Given the description of an element on the screen output the (x, y) to click on. 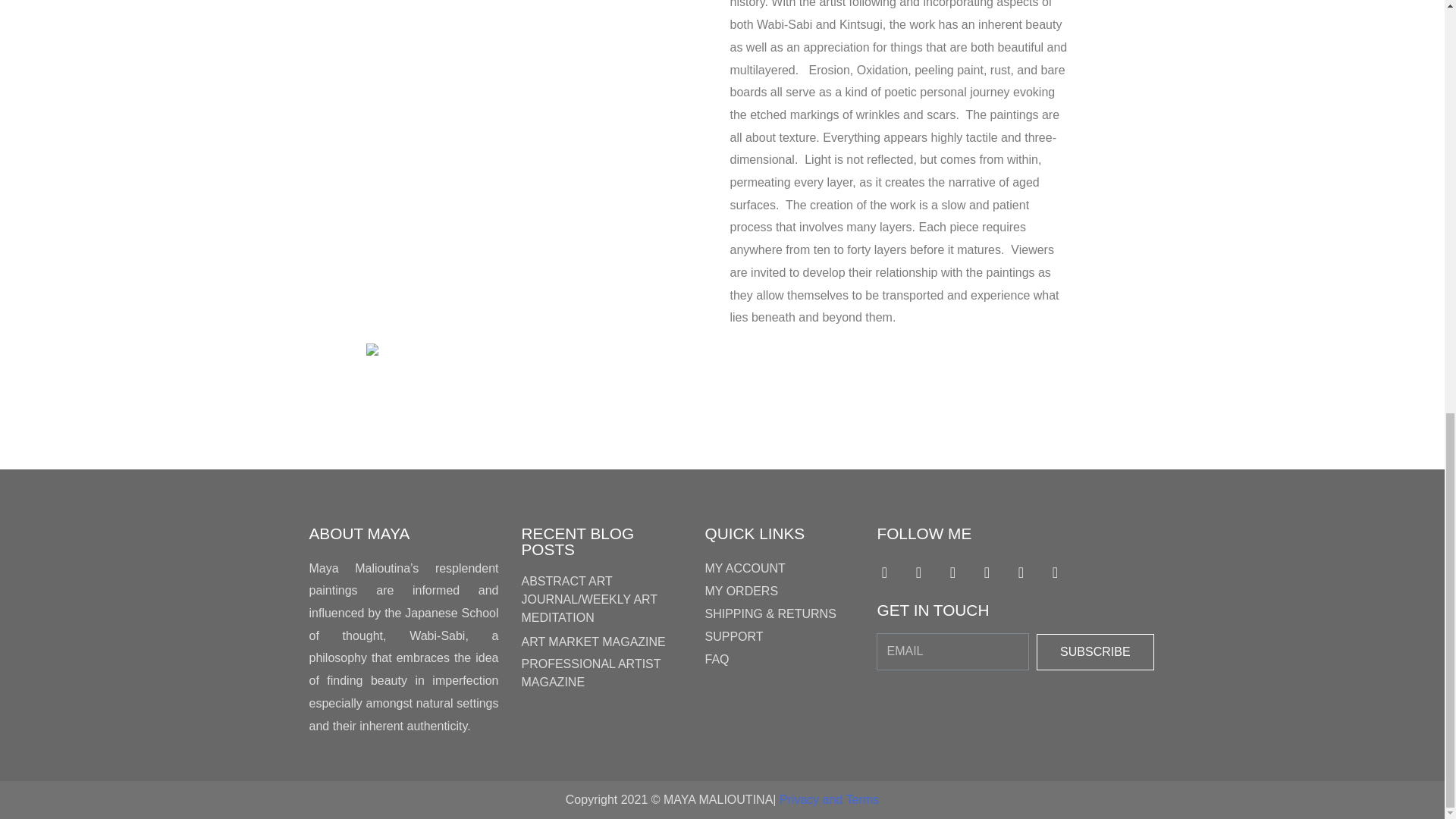
ART MARKET MAGAZINE (593, 641)
SUPPORT (778, 636)
SUBSCRIBE (1094, 651)
FAQ (778, 659)
MY ACCOUNT (778, 568)
PROFESSIONAL ARTIST MAGAZINE (591, 672)
MY ORDERS (778, 590)
